Given the description of an element on the screen output the (x, y) to click on. 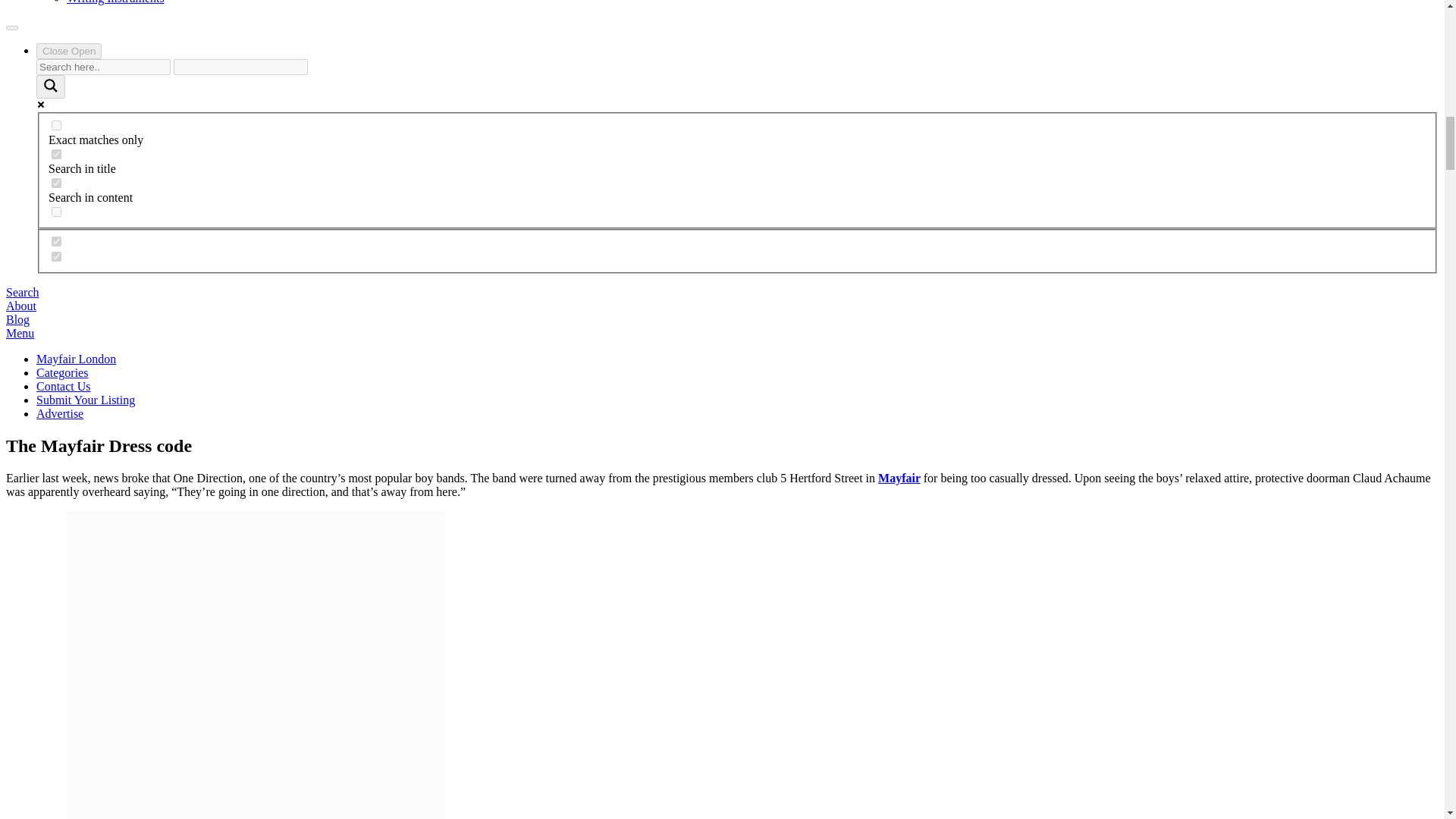
post (55, 256)
listing (55, 241)
excerpt (55, 212)
title (55, 153)
exact (55, 125)
The Mayfair Dress code (255, 665)
content (55, 183)
